Given the description of an element on the screen output the (x, y) to click on. 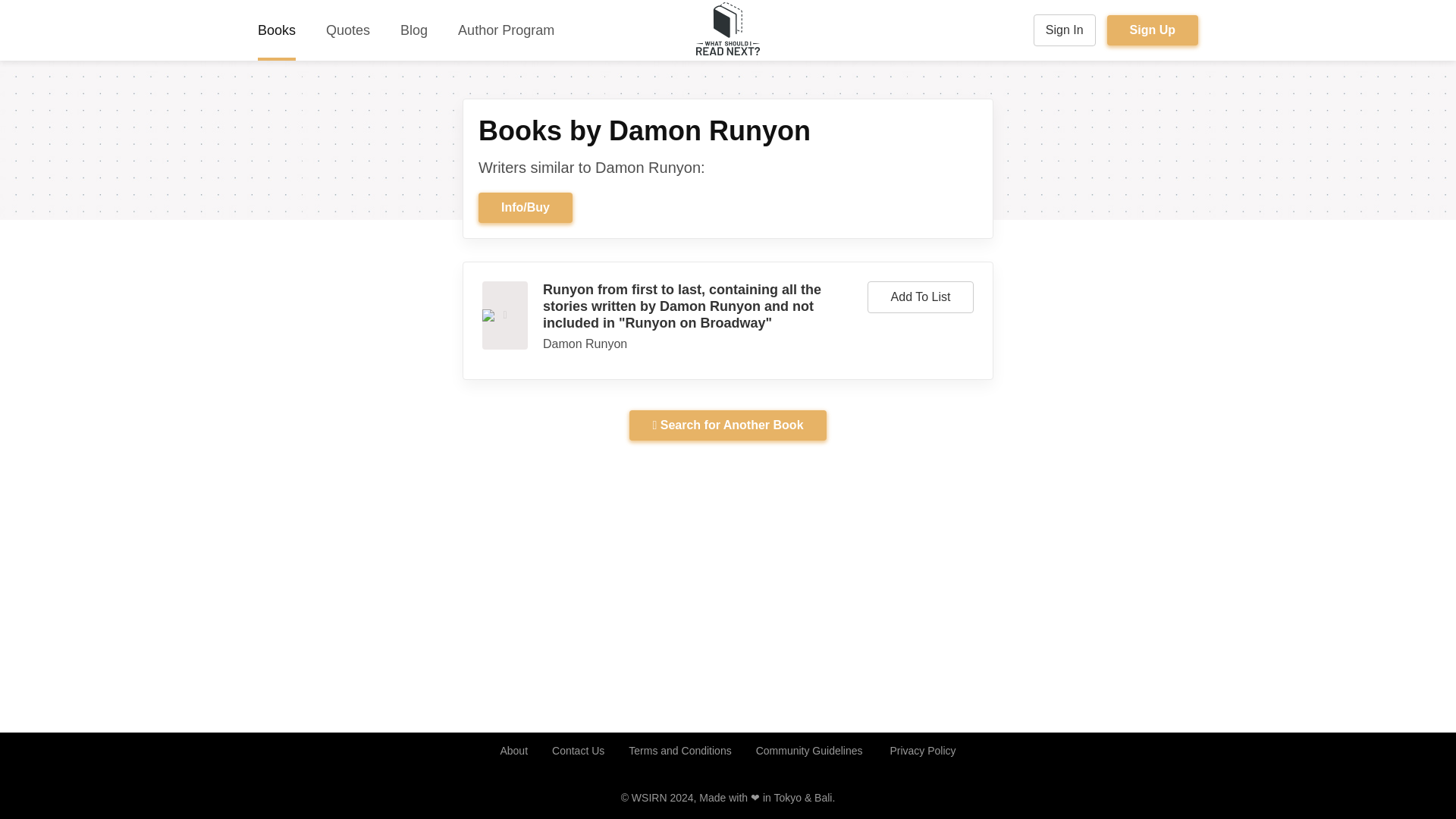
Contact Us (577, 750)
Community Guidelines (809, 750)
Sign Up (1152, 30)
Sign In (1064, 29)
Books (276, 30)
Quotes (347, 30)
Damon Runyon (585, 343)
Privacy Policy (922, 750)
Add To List (920, 296)
